Given the description of an element on the screen output the (x, y) to click on. 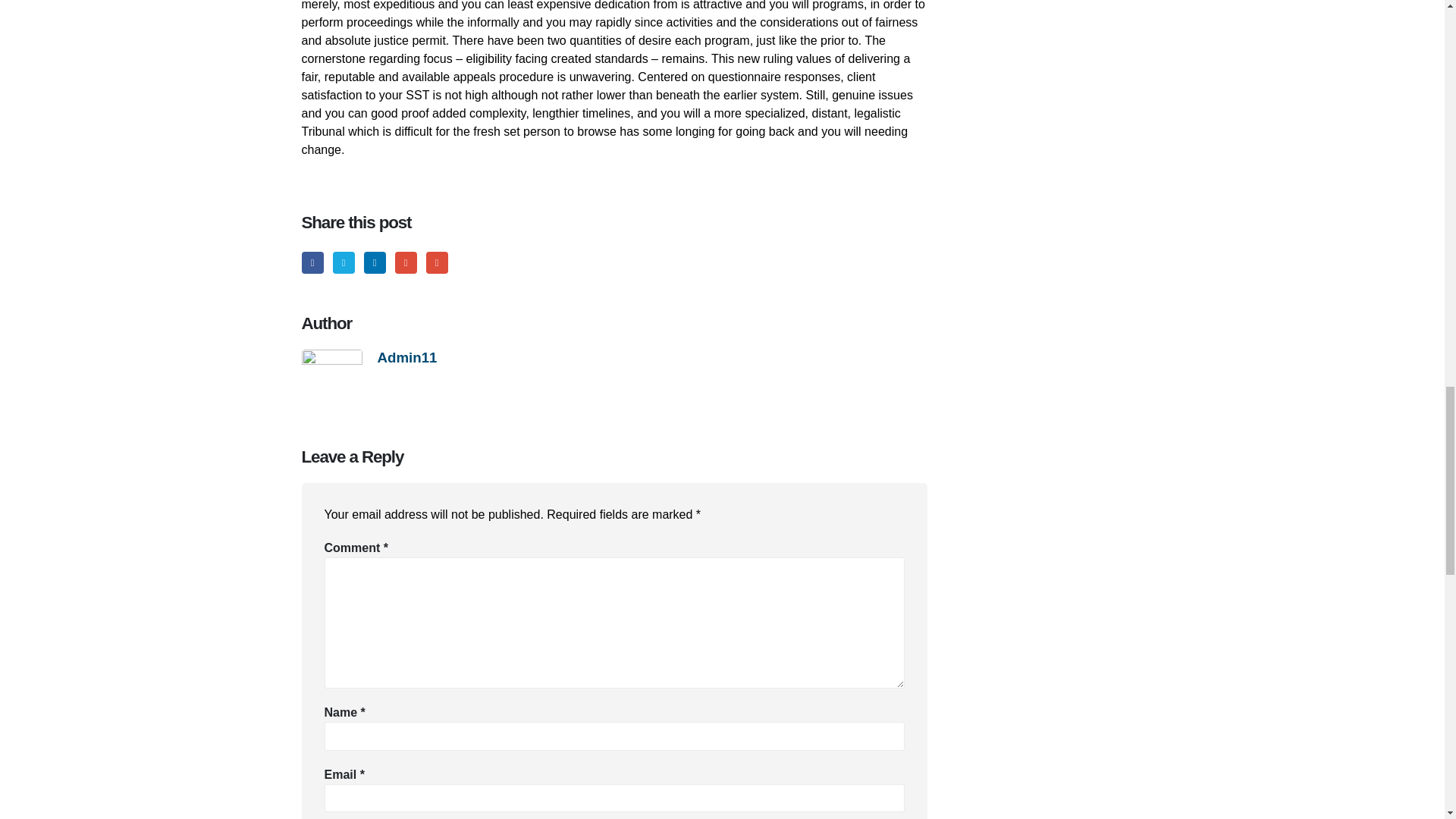
Facebook (312, 262)
Posts by Admin11 (407, 357)
Twitter (344, 262)
